Given the description of an element on the screen output the (x, y) to click on. 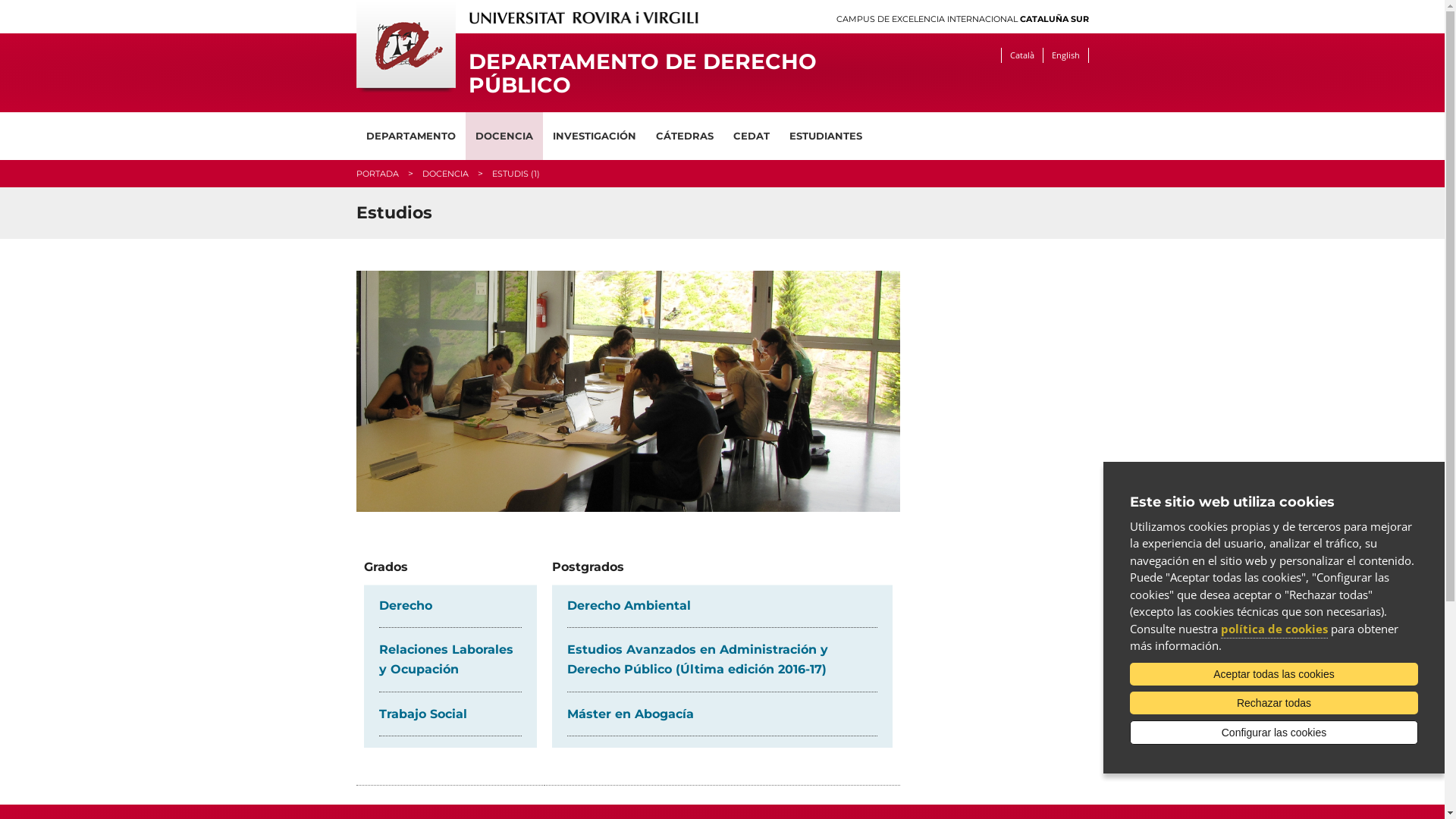
Rechazar todas Element type: text (1273, 702)
Aceptar todas las cookies Element type: text (1273, 673)
Configurar las cookies Element type: text (1273, 732)
PORTADA Element type: text (377, 173)
ESTUDIANTES Element type: text (825, 136)
DEPARTAMENTO Element type: text (410, 136)
Derecho Element type: text (405, 605)
Derecho Ambiental Element type: text (628, 605)
English Element type: text (1065, 54)
DOCENCIA Element type: text (503, 136)
CEDAT Element type: text (751, 136)
Trabajo Social Element type: text (423, 713)
DOCENCIA Element type: text (444, 173)
